Given the description of an element on the screen output the (x, y) to click on. 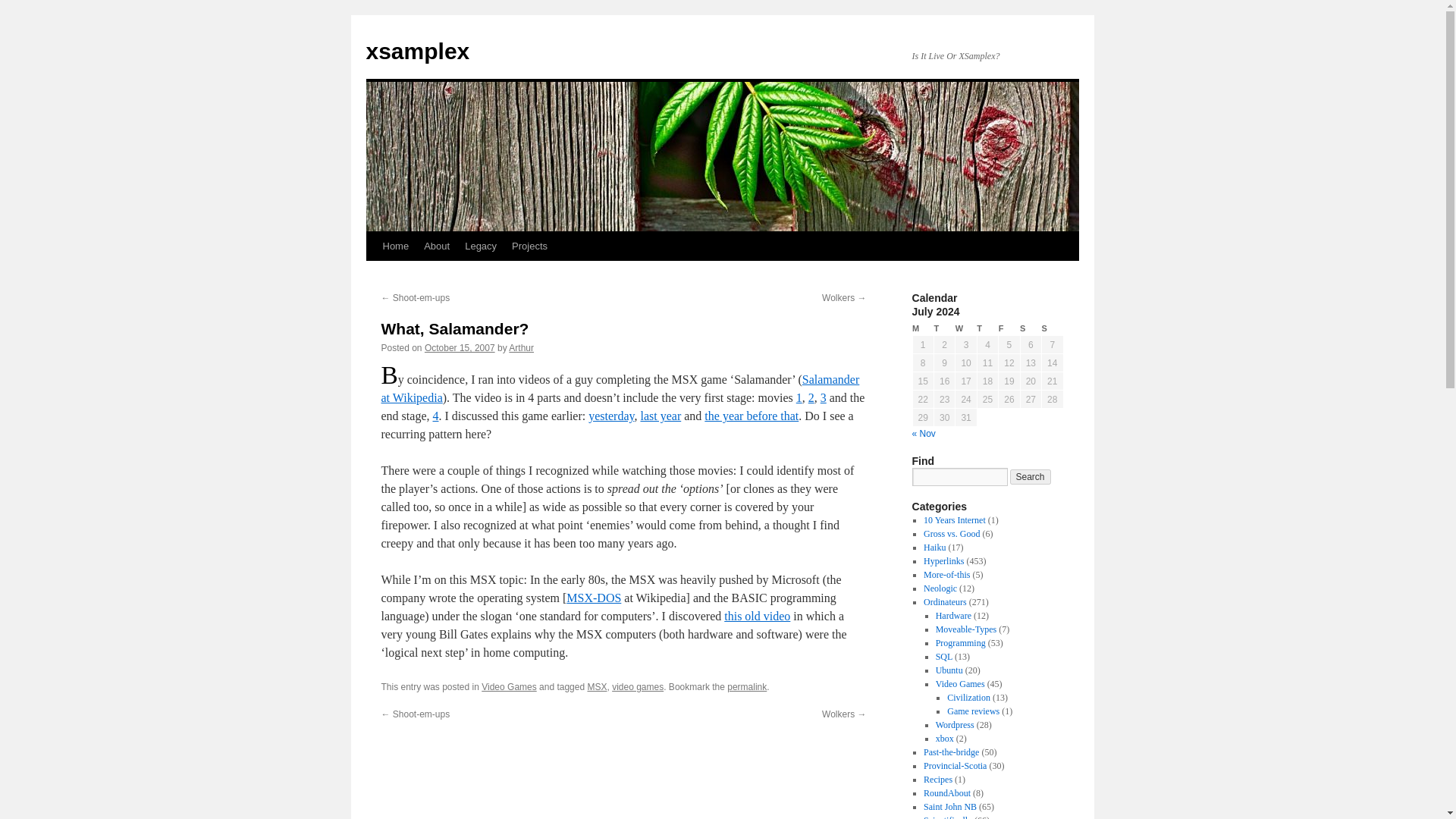
MSX (596, 686)
Friday (1009, 328)
Saturday (1030, 328)
Video Games (509, 686)
video games (637, 686)
last year (660, 415)
Permalink to What, Salamander? (746, 686)
11:36 pm AST (460, 347)
Sunday (1052, 328)
Monday (922, 328)
Projects (528, 246)
xsamplex (416, 50)
Arthur (521, 347)
Salamander at Wikipedia (619, 388)
Tuesday (944, 328)
